Given the description of an element on the screen output the (x, y) to click on. 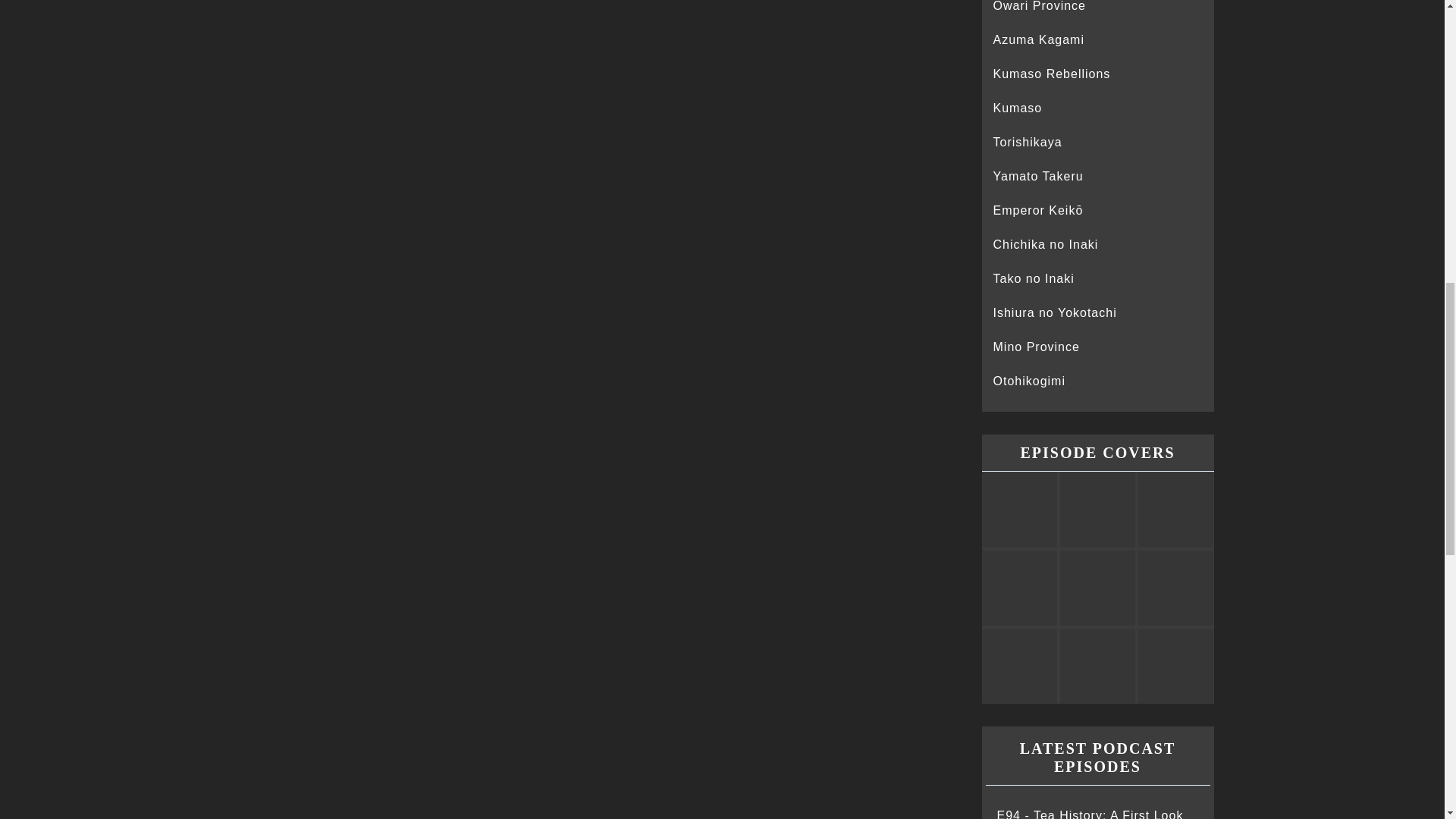
Chichika no Inaki (1045, 244)
Ishiura no Yokotachi (1054, 312)
Owari Province (1039, 6)
Kumaso Rebellions (1051, 73)
Azuma Kagami (1038, 39)
Tako no Inaki (1033, 278)
Mino Province (1036, 346)
E94 - Tea History: A First Look (1088, 814)
Kumaso (1017, 107)
Yamato Takeru (1037, 175)
Torishikaya (1027, 141)
Otohikogimi (1028, 380)
